Given the description of an element on the screen output the (x, y) to click on. 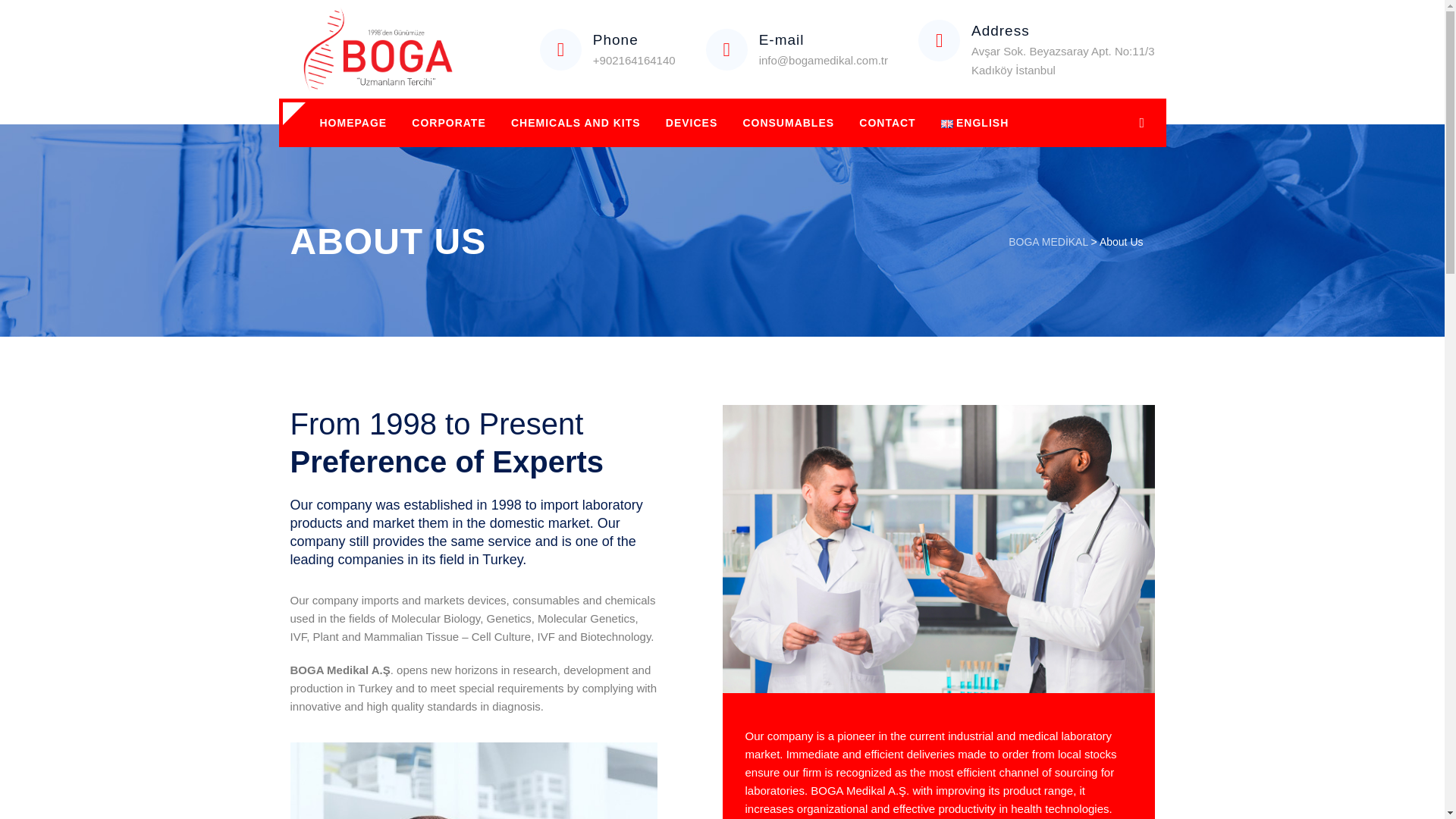
CONSUMABLES (788, 122)
Link (1141, 122)
CONTACT (887, 122)
DEVICES (692, 122)
CHEMICALS AND KITS (575, 122)
CORPORATE (448, 122)
ENGLISH (975, 122)
HOMEPAGE (353, 122)
